Given the description of an element on the screen output the (x, y) to click on. 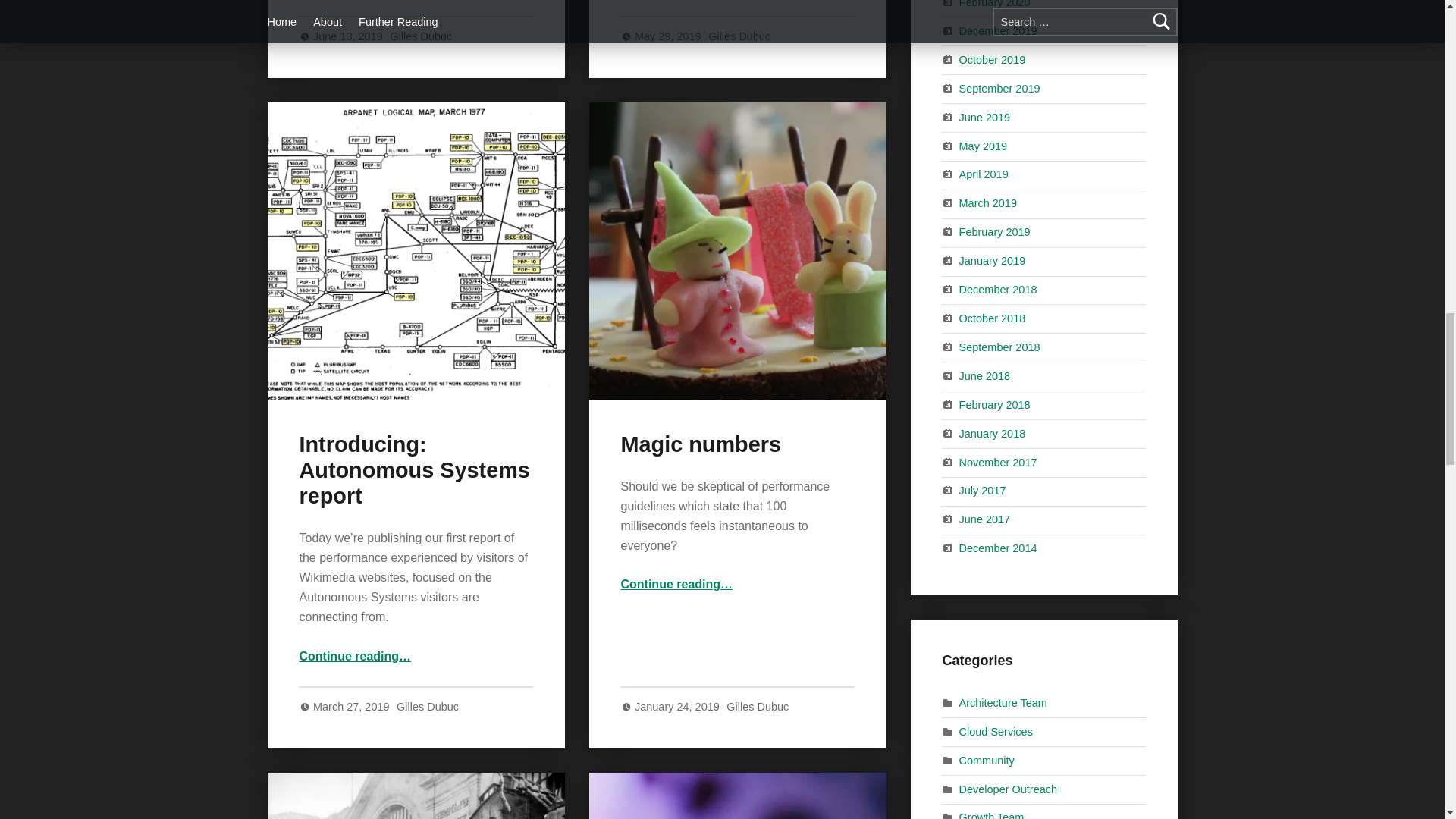
Posted on: May 29, 2019 (669, 36)
January 24, 2019 (678, 706)
Posts by Gilles Dubuc (738, 36)
Gilles Dubuc (757, 706)
Posted on: June 13, 2019 (349, 36)
Introducing: Autonomous Systems report (413, 470)
May 29, 2019 (669, 36)
Posted on: March 27, 2019 (353, 706)
Magic numbers (700, 444)
Gilles Dubuc (738, 36)
